Given the description of an element on the screen output the (x, y) to click on. 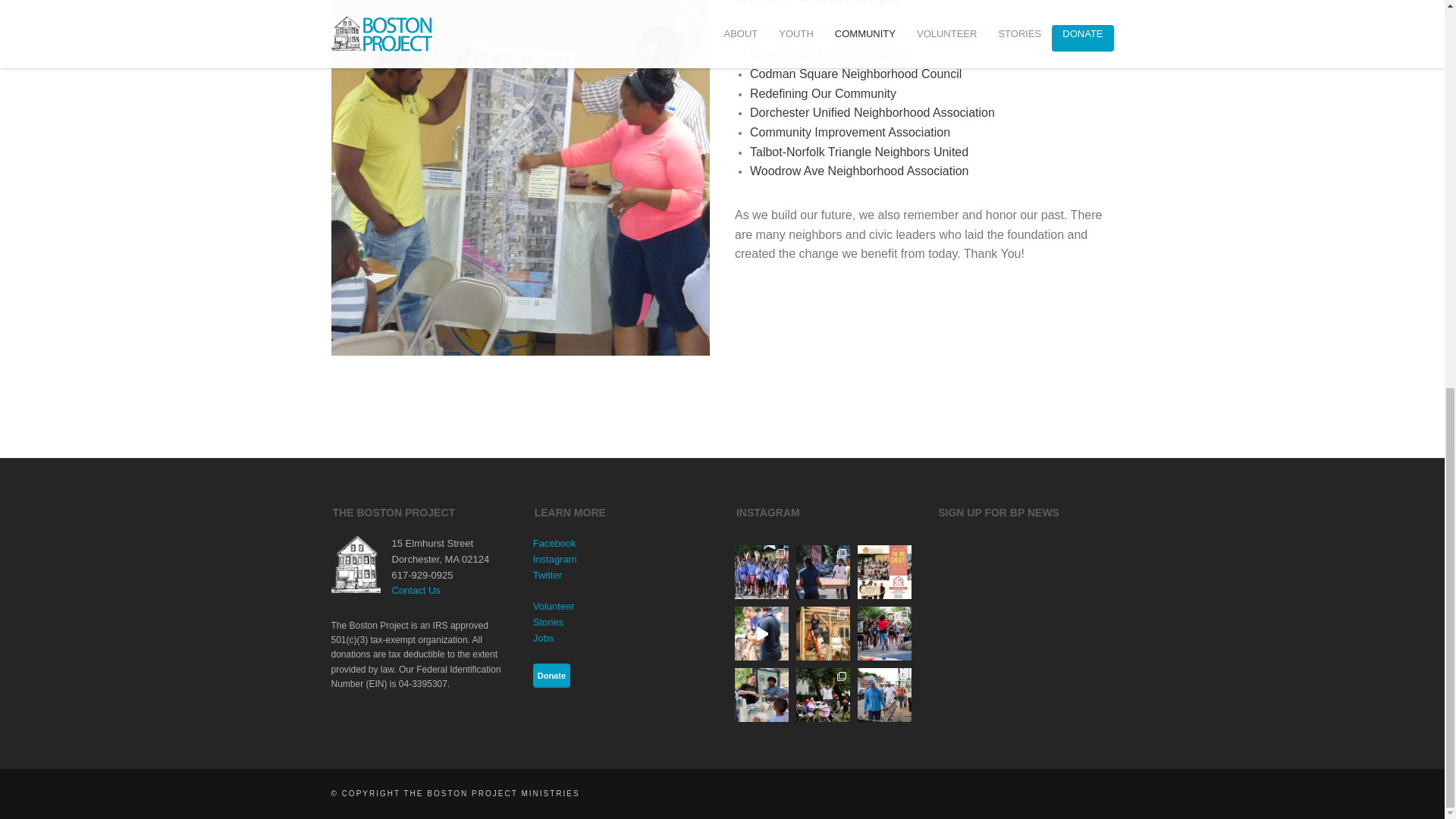
Codman Square Neighborhood Council (854, 73)
Redefining Our Community (822, 92)
West of Washington Coalition (828, 54)
Community Improvement Association (849, 132)
Dorchester Unified Neighborhood Association (871, 112)
